Given the description of an element on the screen output the (x, y) to click on. 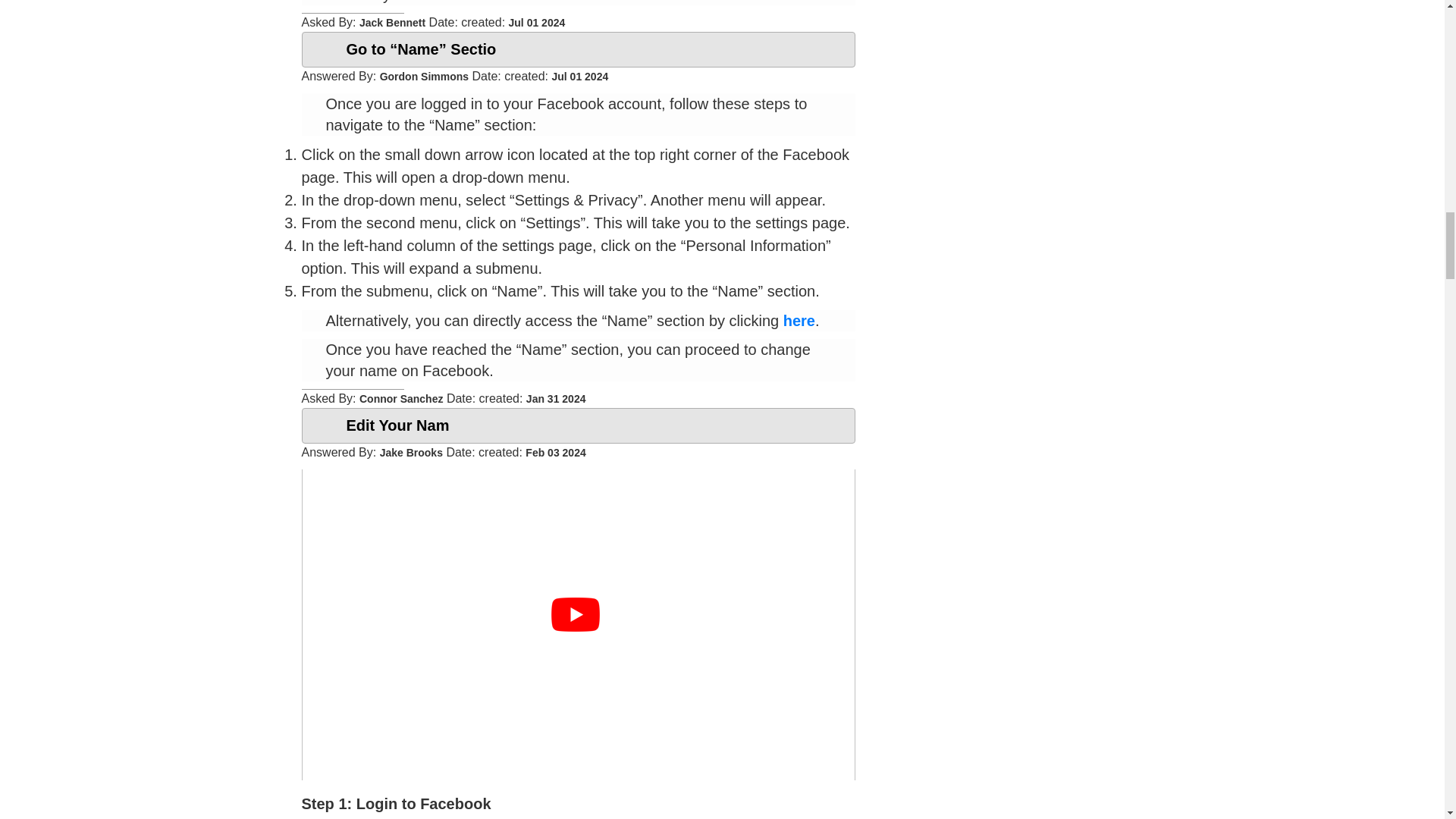
here (799, 320)
